Given the description of an element on the screen output the (x, y) to click on. 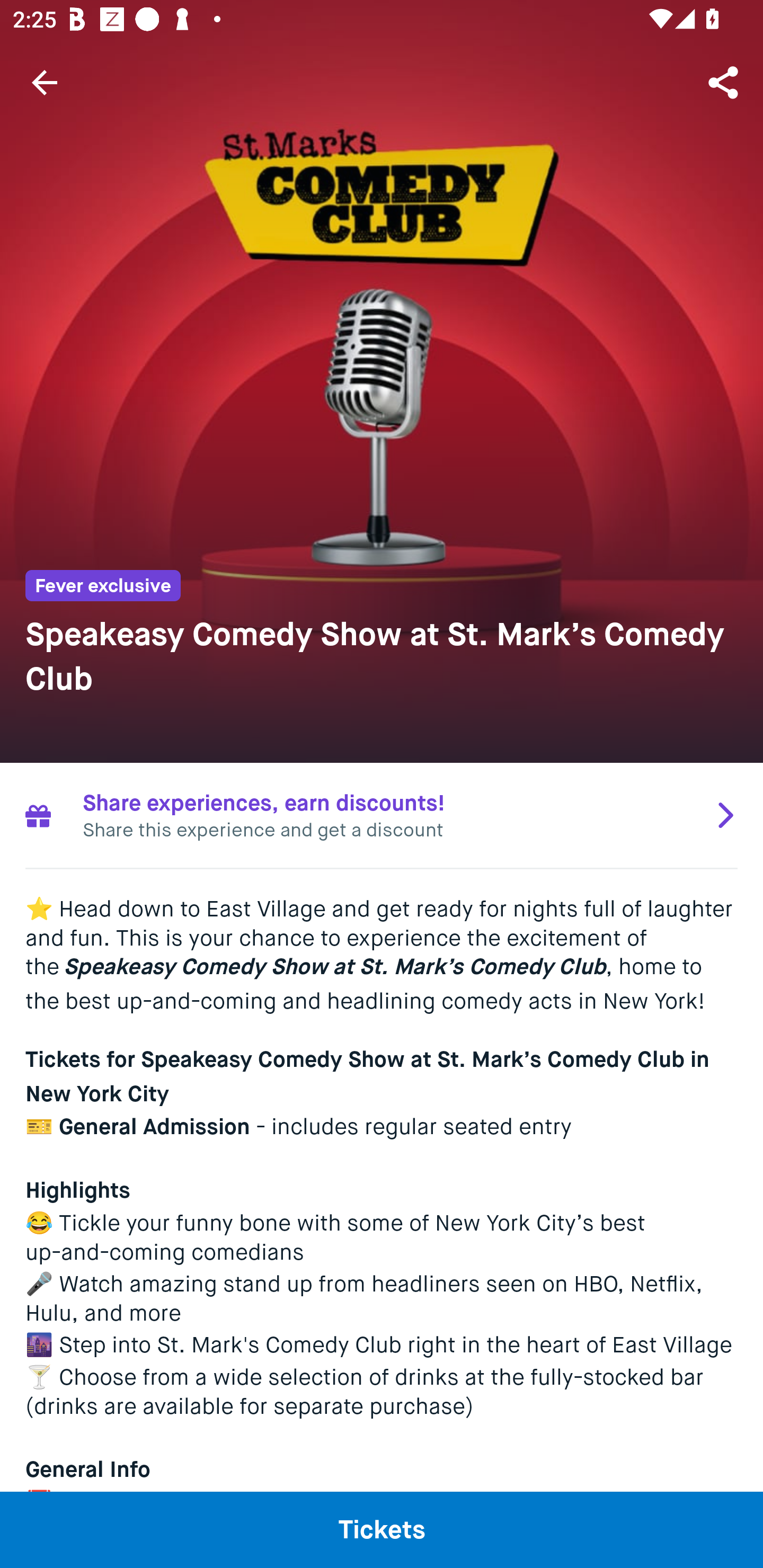
Navigate up (44, 82)
Share (724, 81)
Tickets (381, 1529)
